Given the description of an element on the screen output the (x, y) to click on. 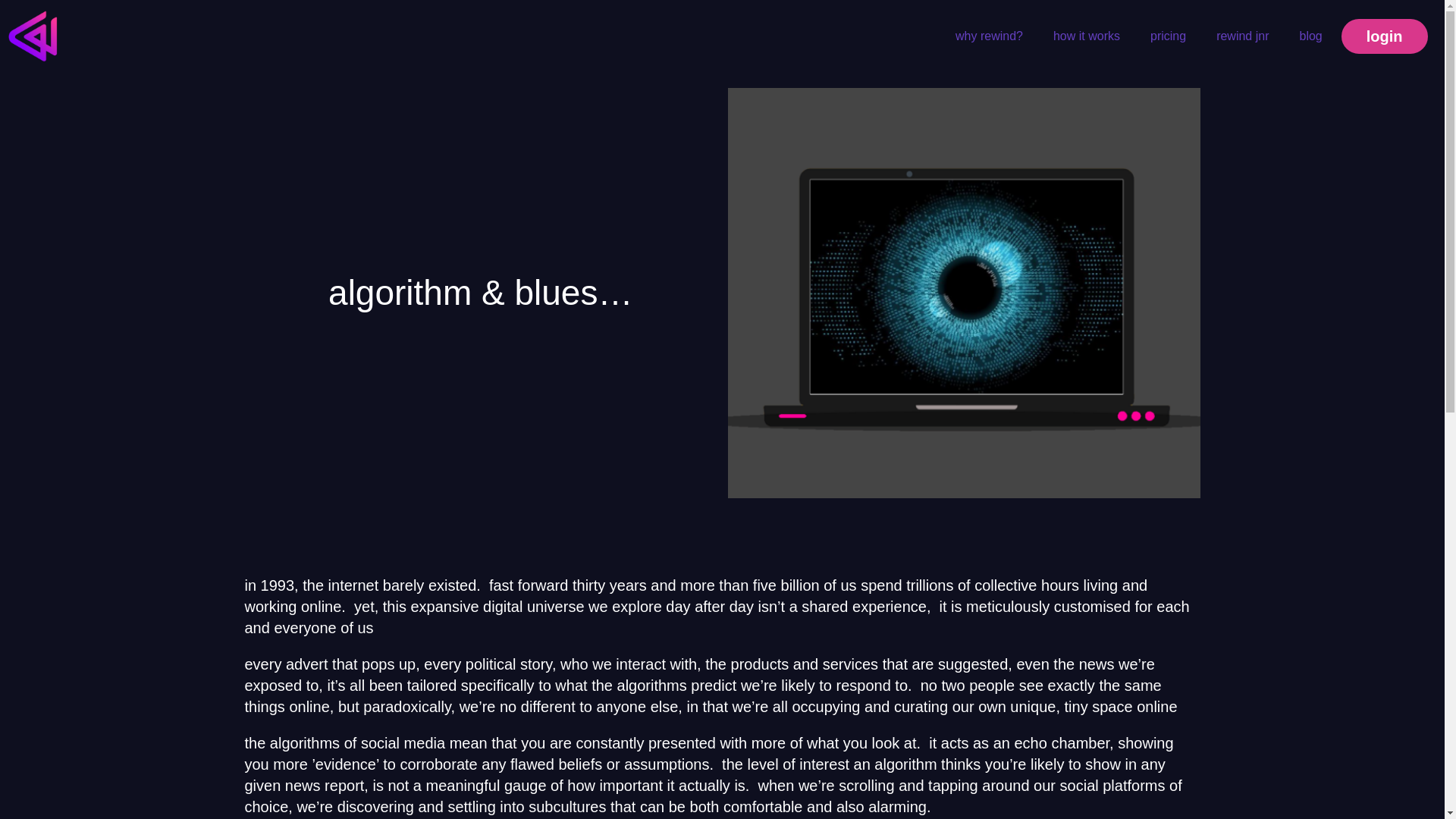
blog (1310, 36)
pricing (1167, 36)
login (1384, 35)
rewind jnr (1242, 36)
how it works (1085, 36)
why rewind? (988, 36)
